Given the description of an element on the screen output the (x, y) to click on. 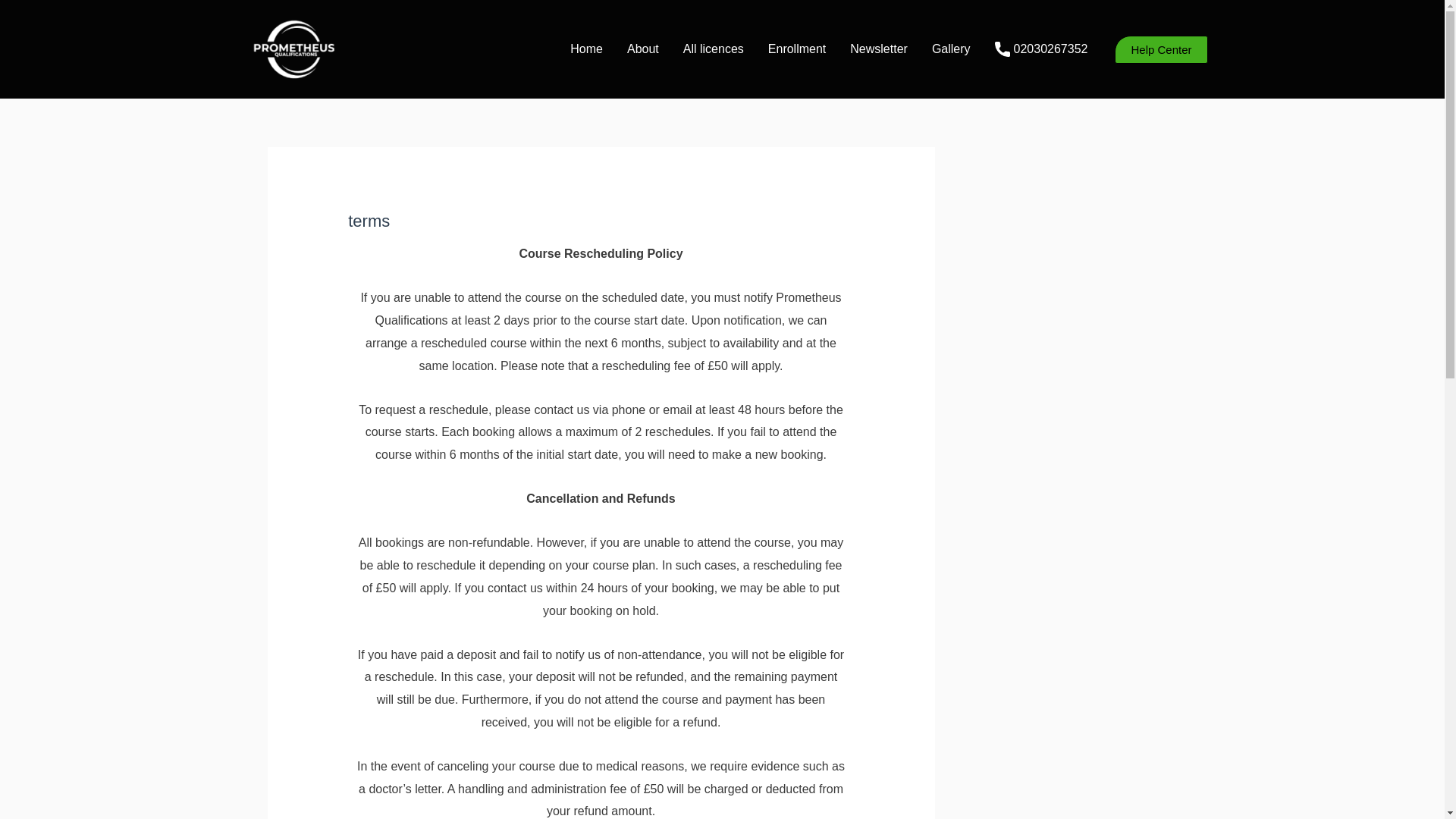
Gallery (951, 48)
02030267352 (1041, 48)
Home (585, 48)
Newsletter (879, 48)
All licences (713, 48)
About (642, 48)
Help Center (1161, 49)
Enrollment (796, 48)
